Given the description of an element on the screen output the (x, y) to click on. 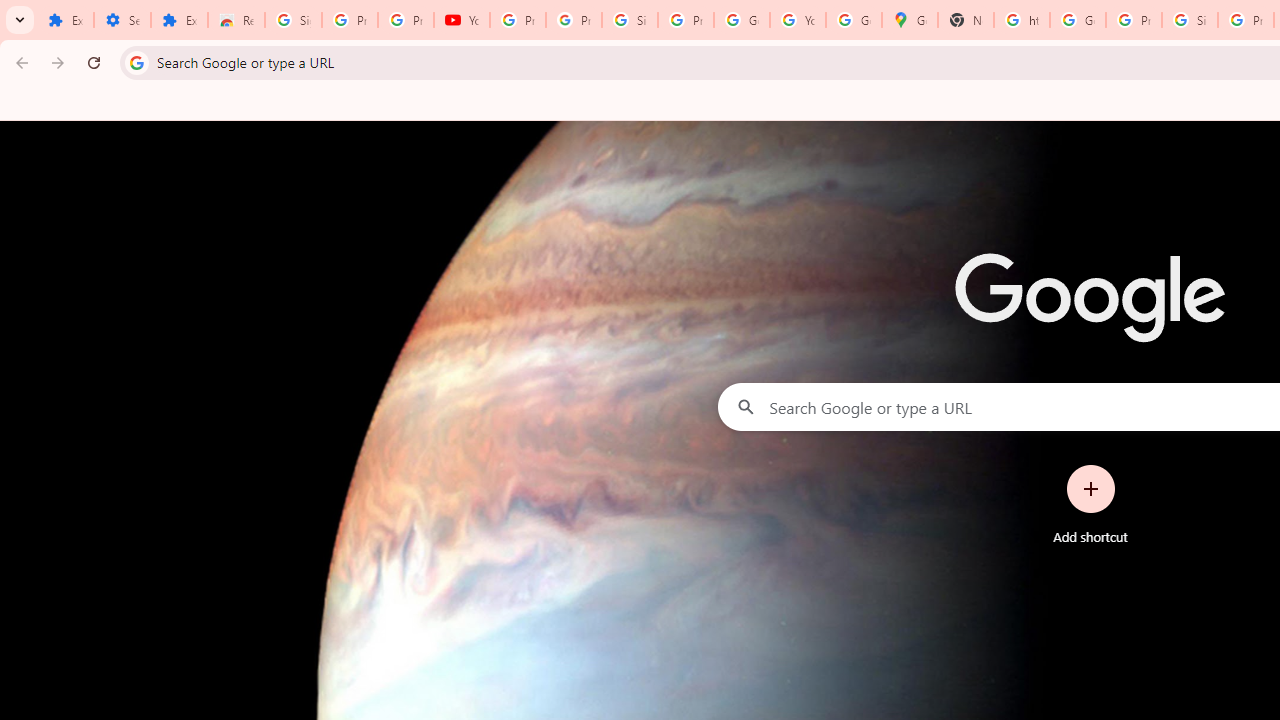
Google Account (742, 20)
https://scholar.google.com/ (1021, 20)
Extensions (179, 20)
Sign in - Google Accounts (293, 20)
YouTube (461, 20)
Extensions (65, 20)
